Given the description of an element on the screen output the (x, y) to click on. 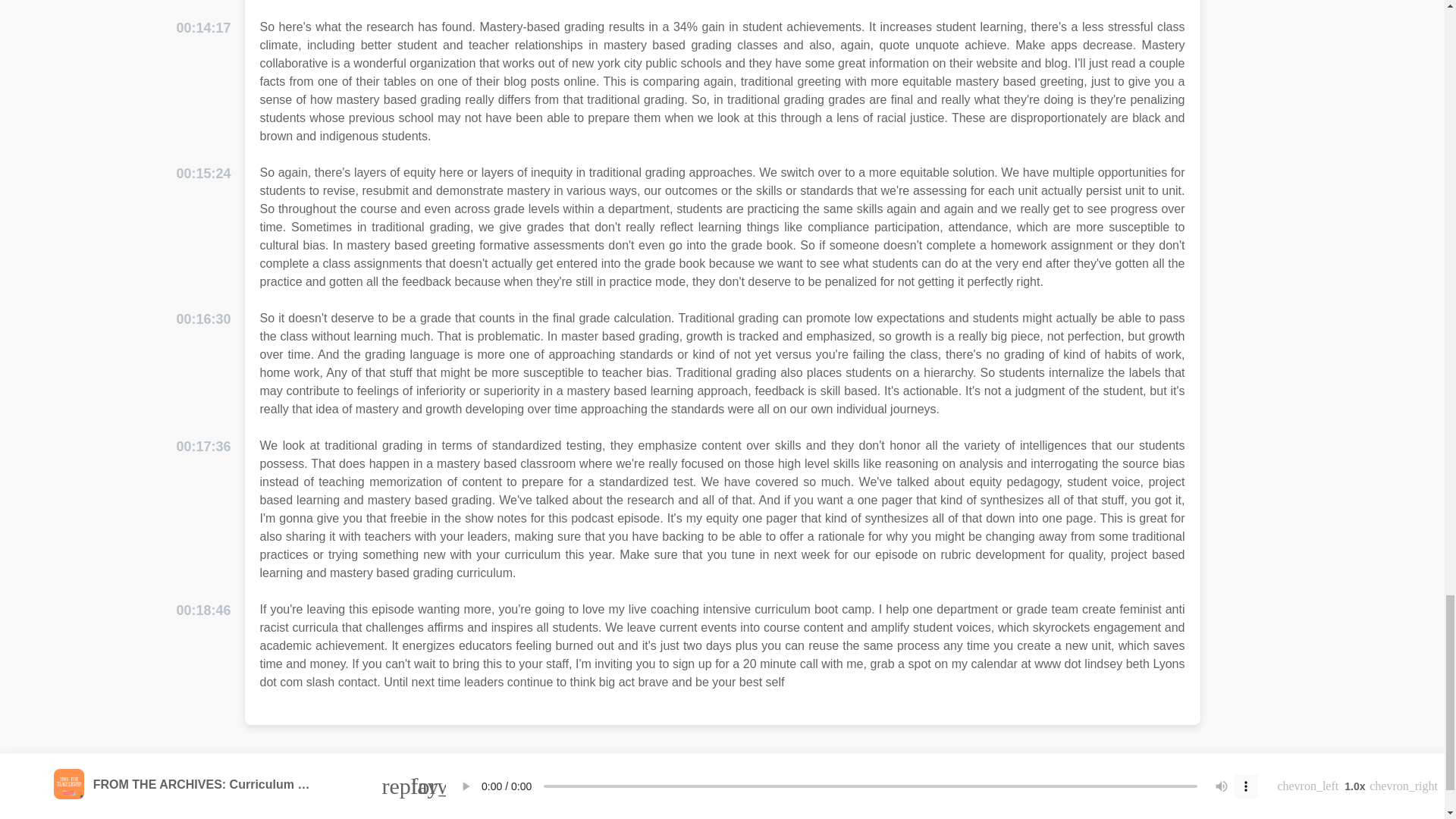
00:15:24 (203, 173)
00:17:36 (203, 446)
00:14:17 (203, 28)
00:16:30 (203, 319)
00:18:46 (203, 610)
